Given the description of an element on the screen output the (x, y) to click on. 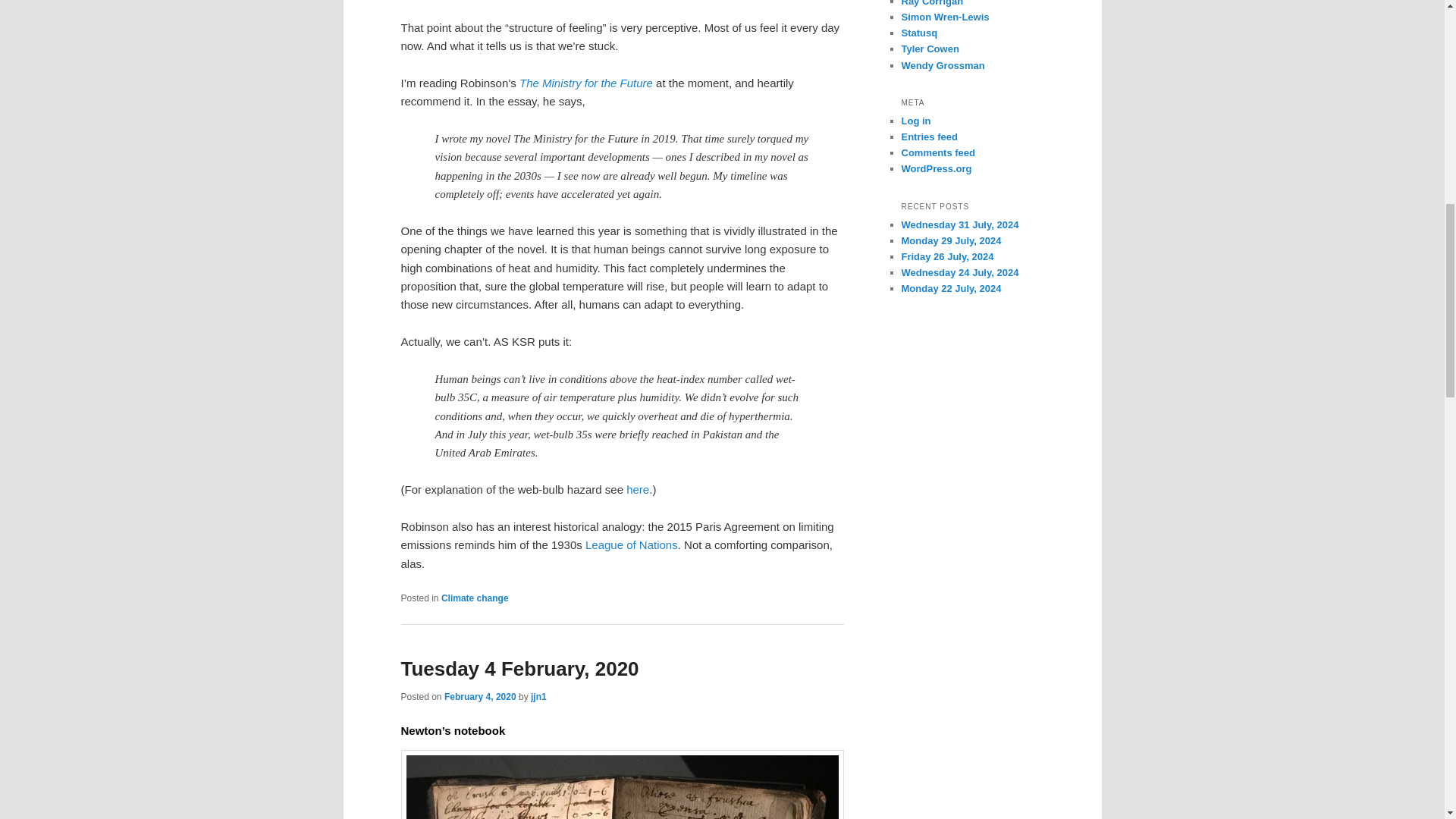
Climate change (474, 597)
League of Nations (631, 544)
February 4, 2020 (480, 696)
here (637, 489)
The Ministry for the Future (585, 82)
Tuesday 4 February, 2020 (519, 668)
jjn1 (539, 696)
